Given the description of an element on the screen output the (x, y) to click on. 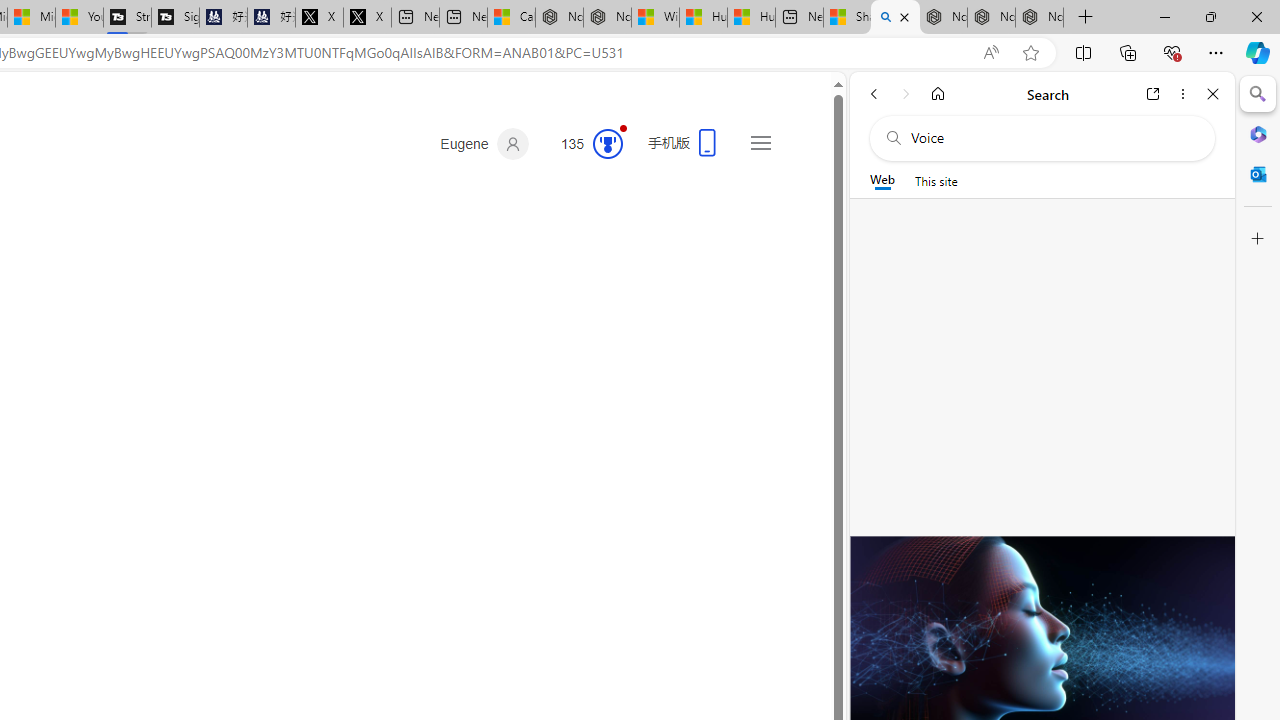
Forward (906, 93)
Microsoft Rewards 132 (584, 143)
Restore (1210, 16)
Collections (1128, 52)
Home (938, 93)
Eugene (484, 143)
Streaming Coverage | T3 (127, 17)
Search the web (1051, 137)
Class: outer-circle-animation (607, 143)
Close (1213, 93)
Settings and more (Alt+F) (1215, 52)
X (367, 17)
